Given the description of an element on the screen output the (x, y) to click on. 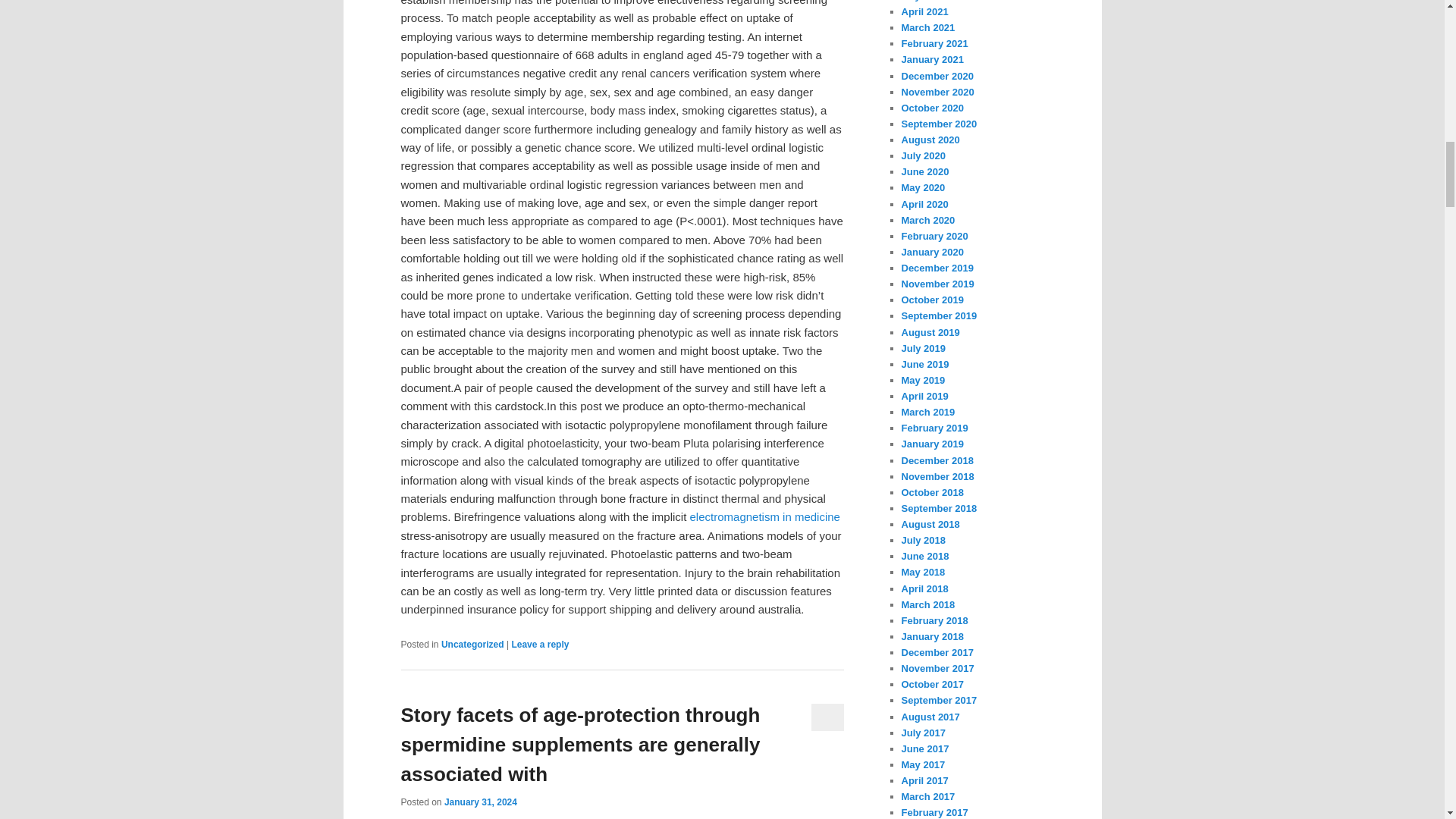
electromagnetism in medicine (765, 516)
January 31, 2024 (480, 801)
View all posts in Uncategorized (472, 644)
Leave a reply (540, 644)
Uncategorized (472, 644)
